Given the description of an element on the screen output the (x, y) to click on. 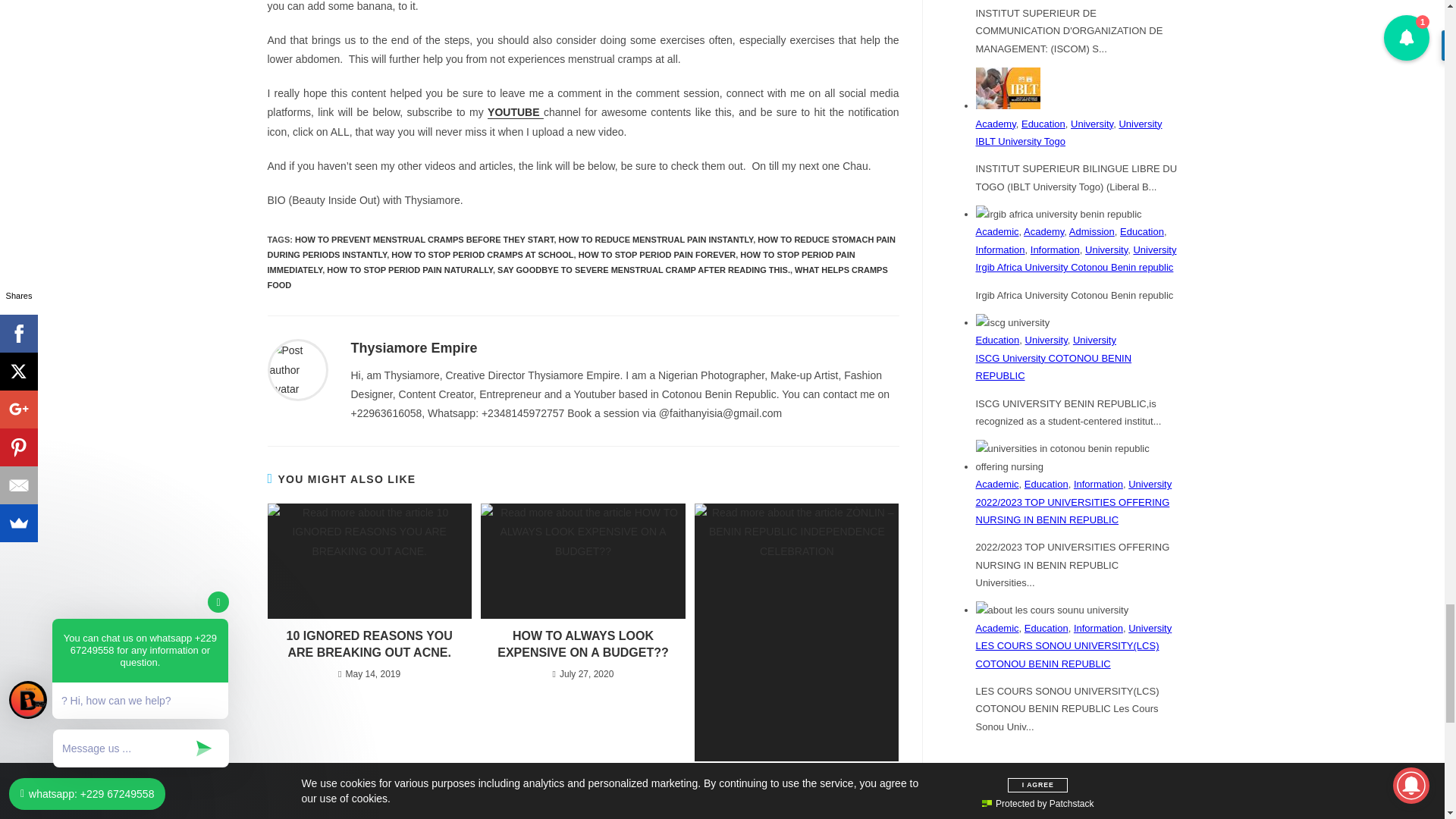
Visit author page (296, 369)
Visit author page (413, 347)
Facebook (962, 805)
Instagram (1006, 805)
